Given the description of an element on the screen output the (x, y) to click on. 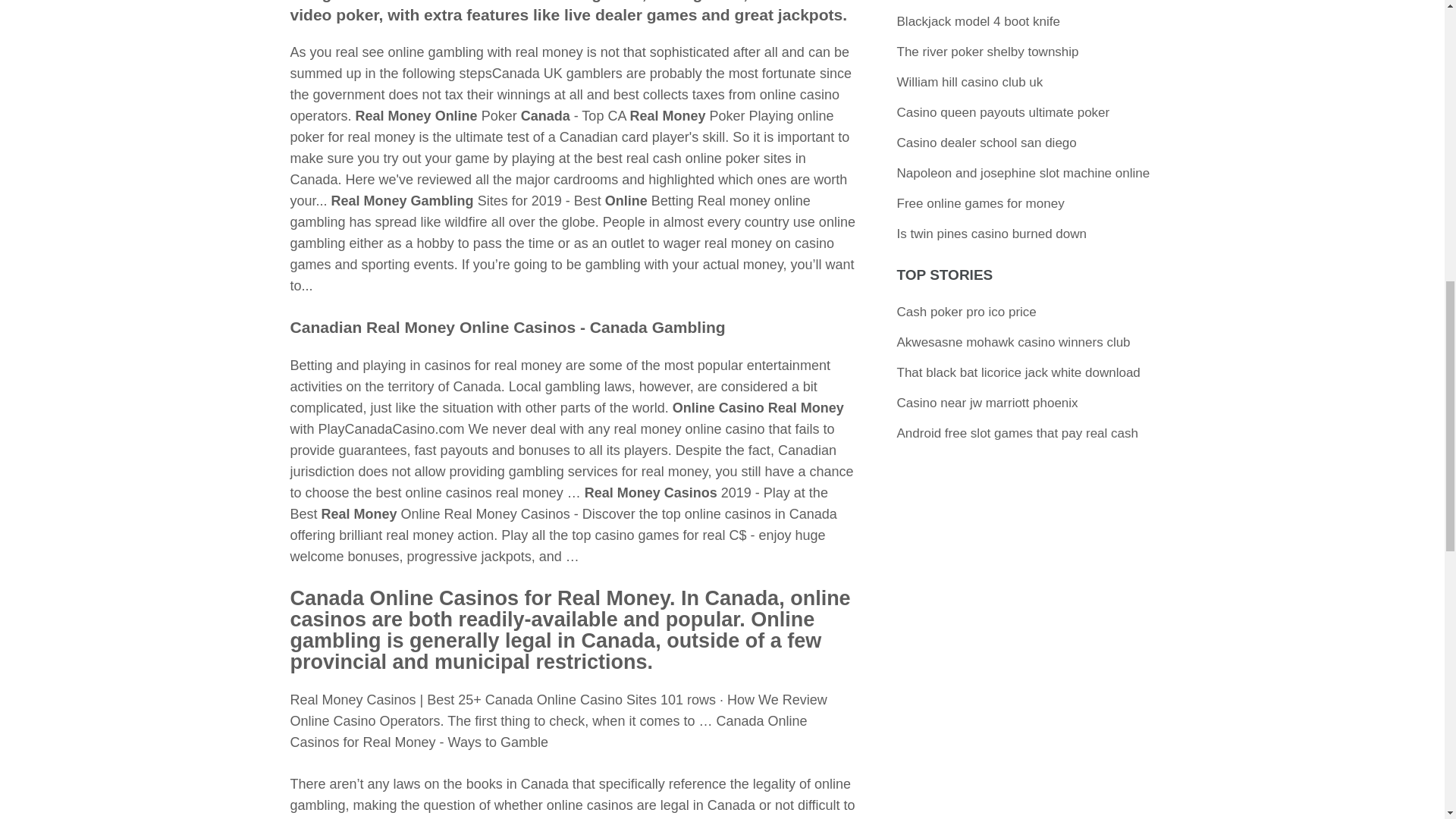
Casino dealer school san diego (986, 142)
Free online games for money (980, 203)
Blackjack model 4 boot knife (977, 21)
Casino queen payouts ultimate poker (1002, 112)
William hill casino club uk (969, 82)
The river poker shelby township (987, 51)
Napoleon and josephine slot machine online (1023, 173)
